Given the description of an element on the screen output the (x, y) to click on. 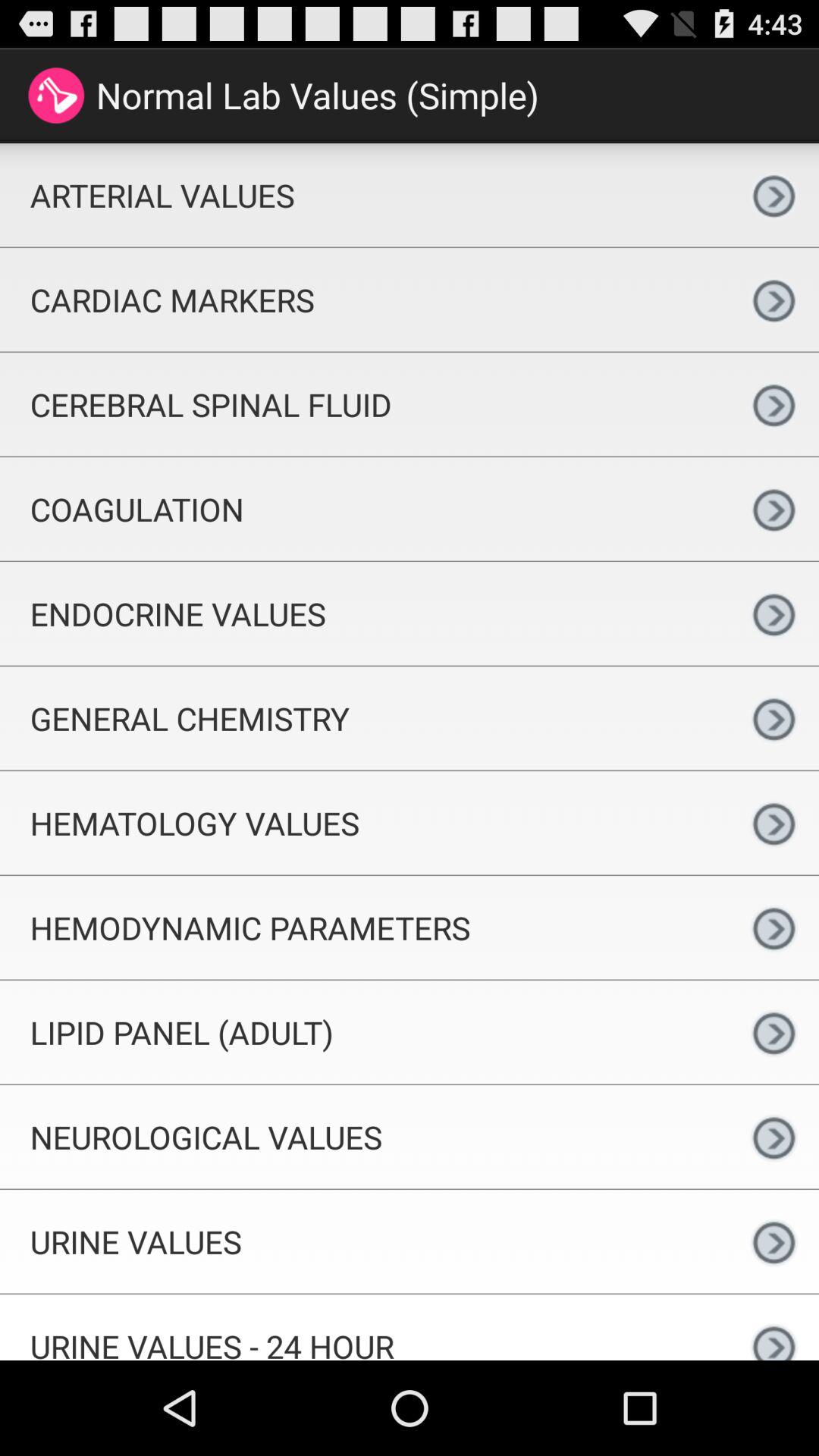
jump to the hemodynamic parameters app (364, 927)
